Given the description of an element on the screen output the (x, y) to click on. 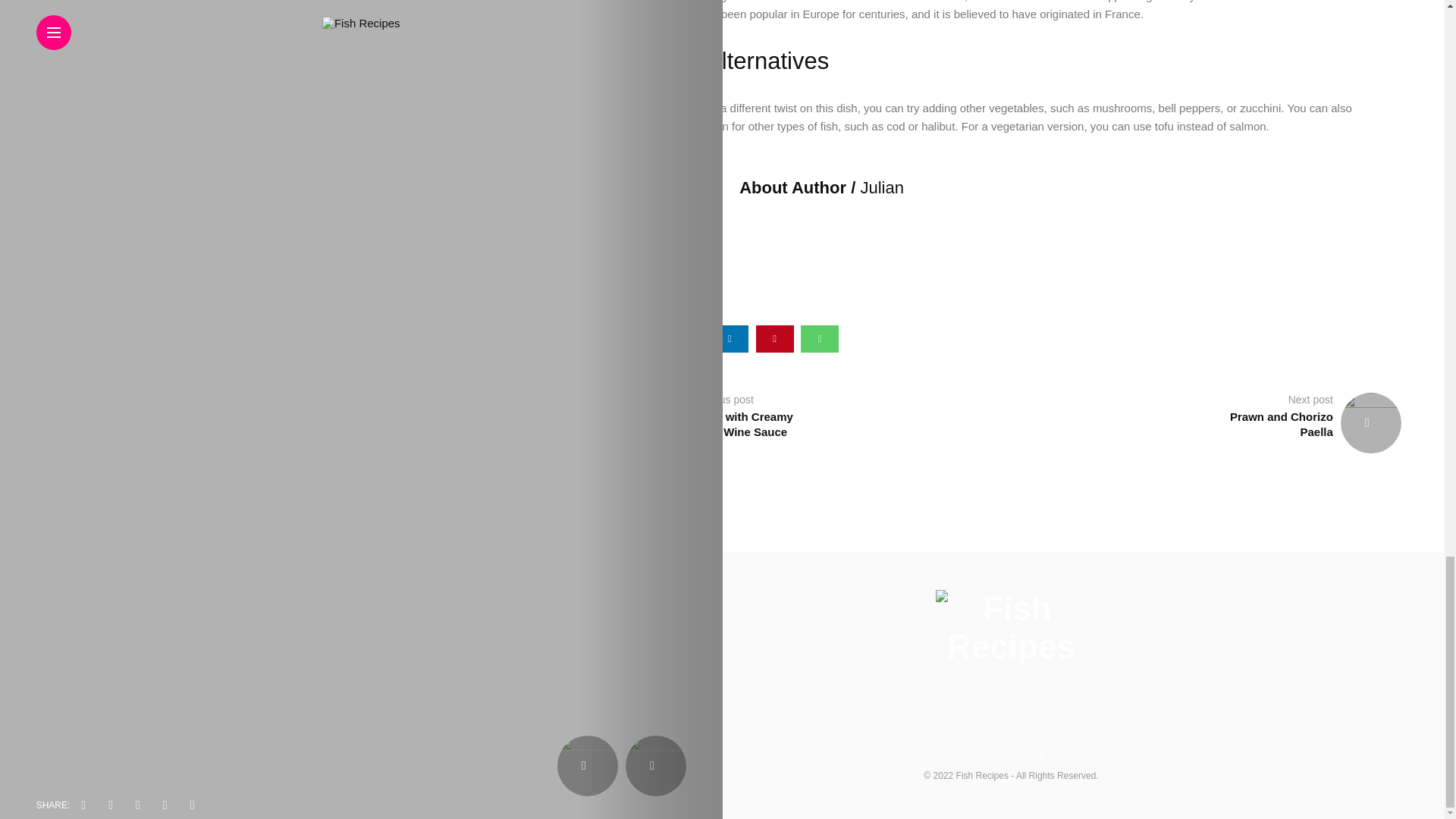
facebook (640, 338)
Posts by Julian (881, 187)
